Given the description of an element on the screen output the (x, y) to click on. 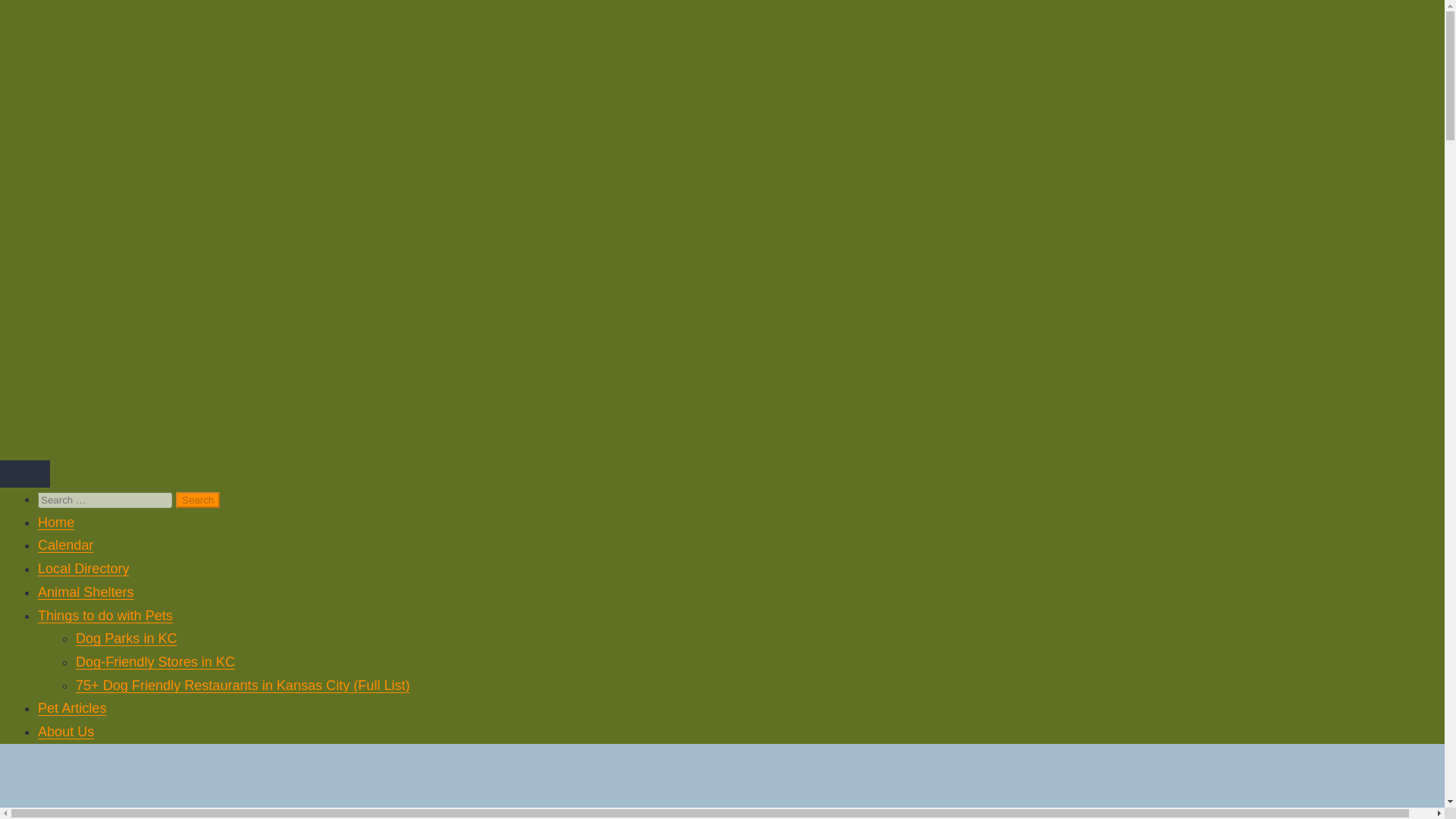
Dog-Friendly Stores in KC (154, 661)
About Us (65, 731)
Search (197, 499)
Local Directory (83, 568)
Home (55, 522)
Menu (24, 473)
Pet Articles (71, 708)
Animal Shelters (85, 591)
Search (197, 499)
Calendar (65, 544)
Things to do with Pets (105, 615)
Search (197, 499)
Dog Parks in KC (126, 638)
